Given the description of an element on the screen output the (x, y) to click on. 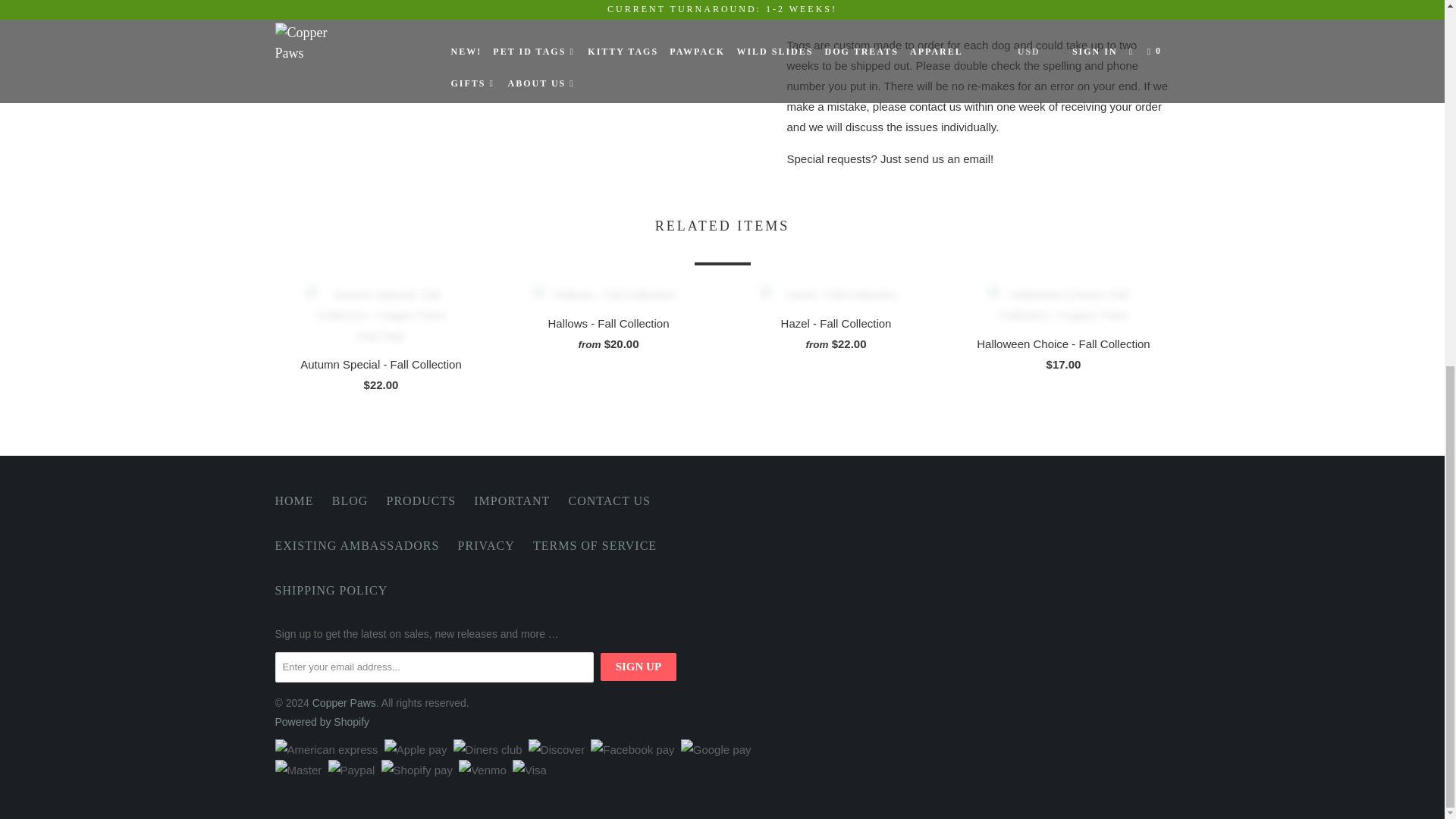
Sign Up (638, 666)
